Given the description of an element on the screen output the (x, y) to click on. 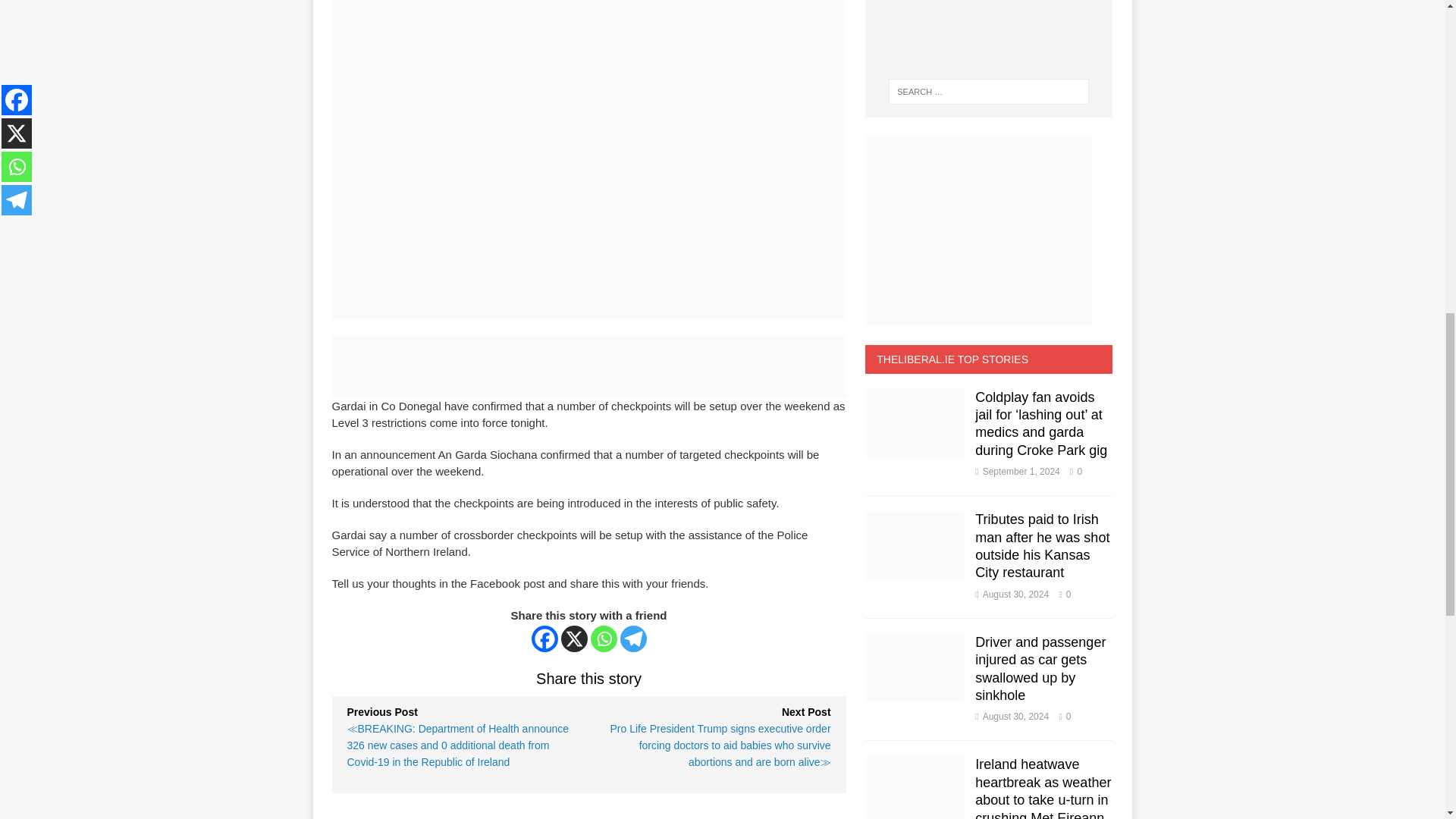
Whatsapp (604, 638)
Facebook (544, 638)
Telegram (633, 638)
X (574, 638)
